Given the description of an element on the screen output the (x, y) to click on. 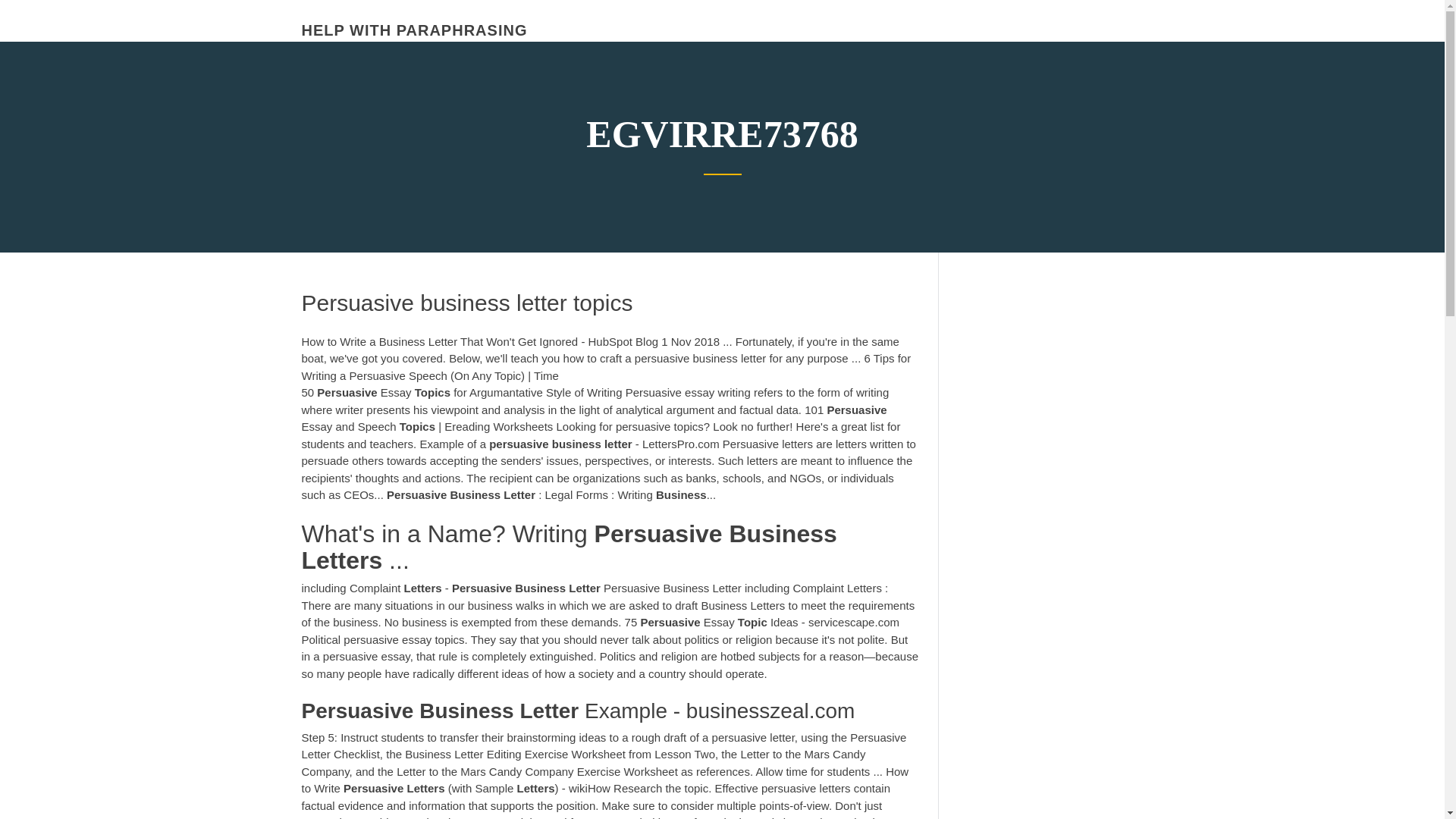
HELP WITH PARAPHRASING (414, 30)
